Given the description of an element on the screen output the (x, y) to click on. 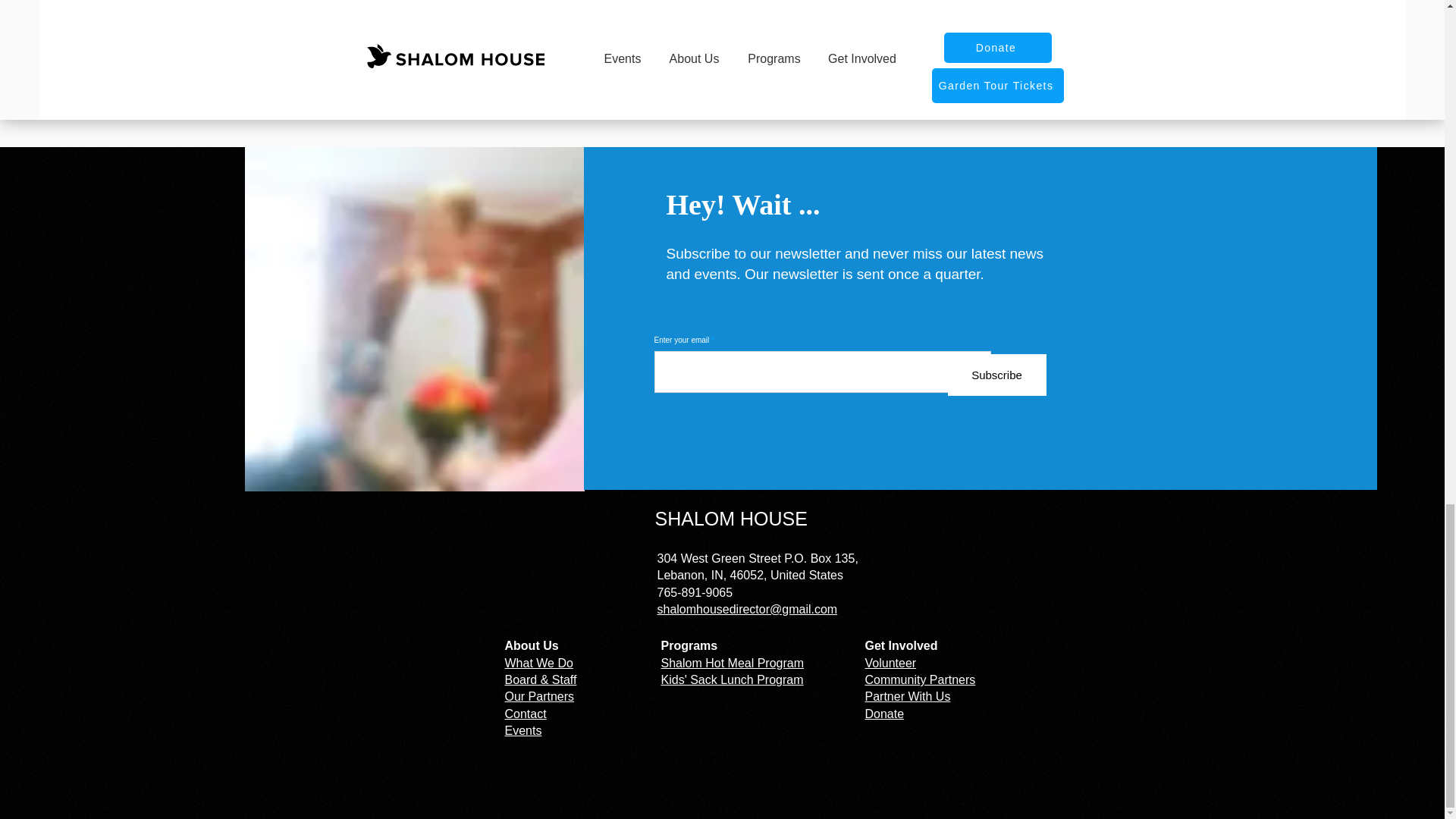
Kids' Sack Lunch Program (732, 679)
What We Do (539, 662)
Donate (884, 713)
Partner With Us (907, 696)
Community Partners (919, 679)
Subscribe (996, 374)
Volunteer (889, 662)
Our Partners (540, 696)
Contact (526, 713)
Events (523, 730)
Shalom Hot Meal Program (733, 662)
